Given the description of an element on the screen output the (x, y) to click on. 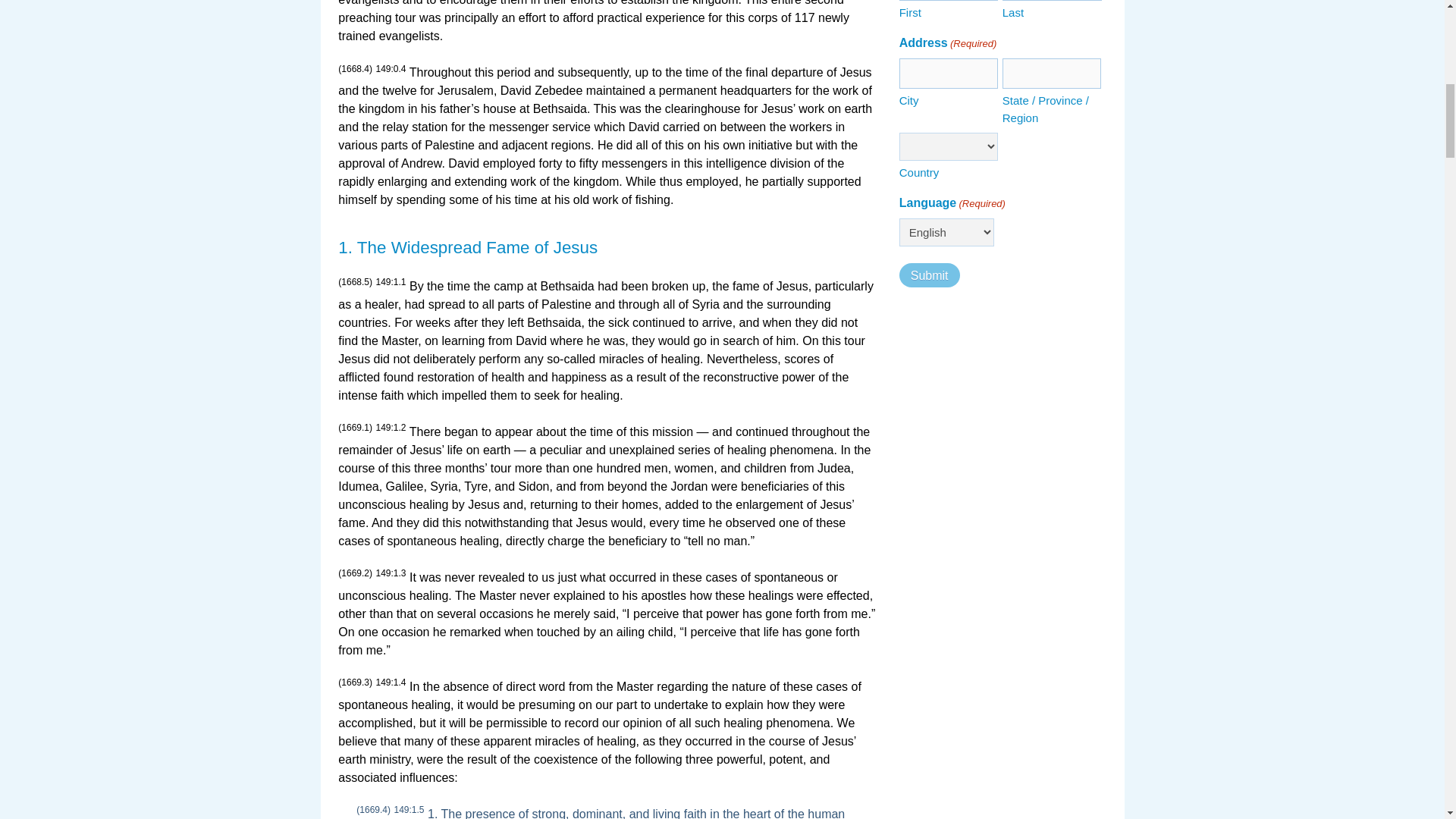
Submit (929, 274)
